Given the description of an element on the screen output the (x, y) to click on. 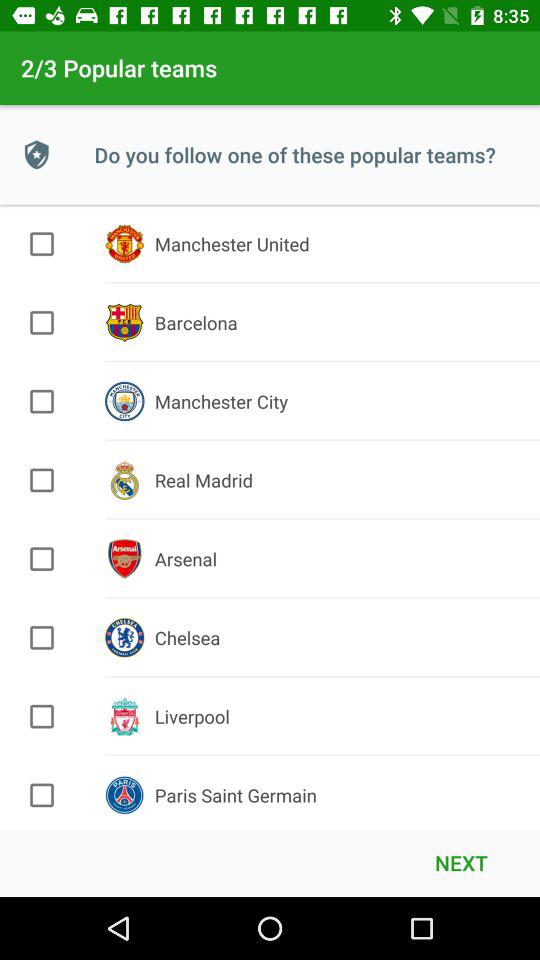
select arsenal (42, 559)
